Given the description of an element on the screen output the (x, y) to click on. 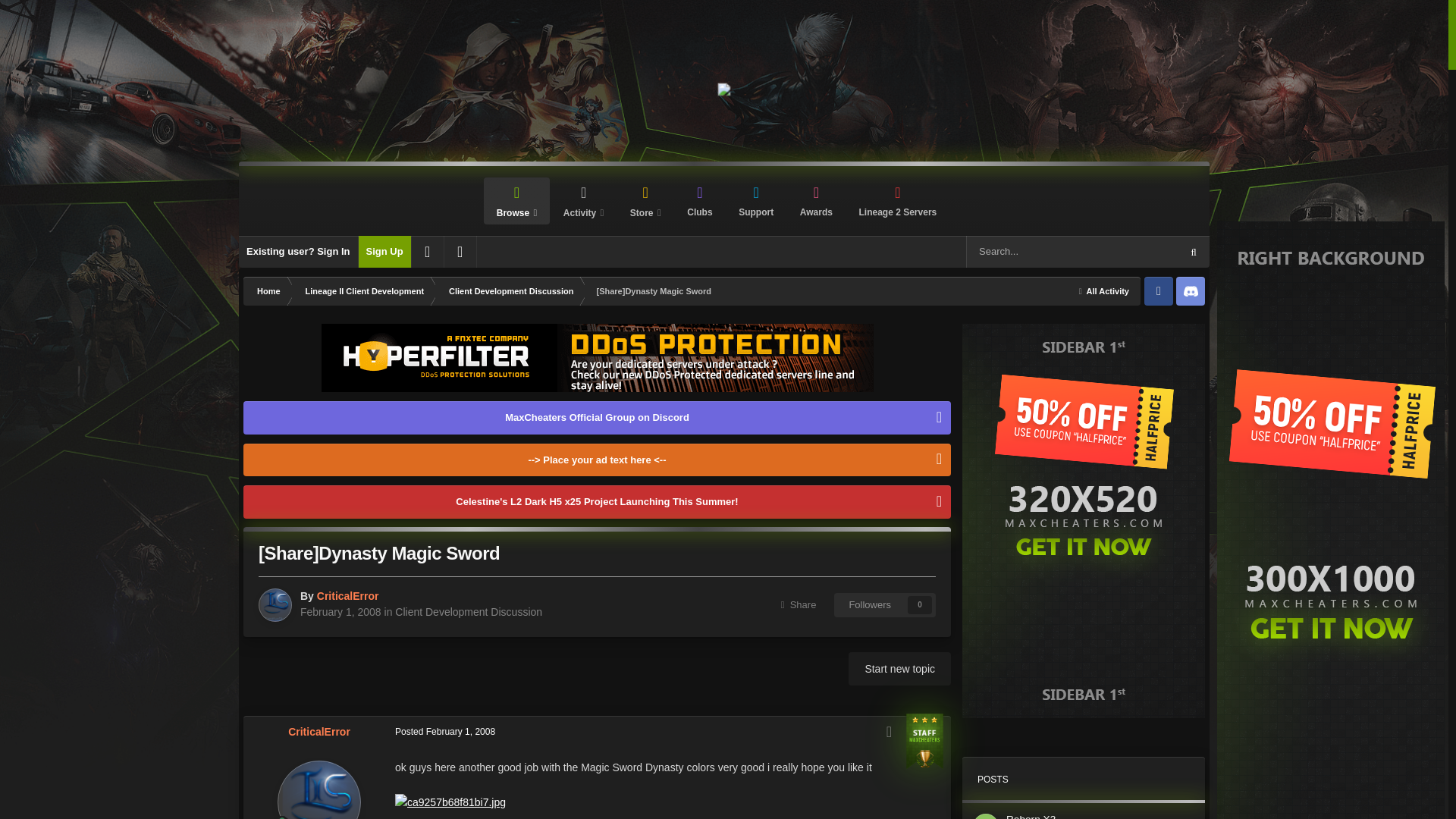
Awards (816, 200)
Lineage 2 Servers (897, 200)
Sign Up (384, 251)
Go to CriticalError's profile (275, 604)
Support (755, 200)
Home (267, 290)
Go to CriticalError's profile (319, 731)
Activity (582, 200)
Customizer (428, 251)
Store (644, 200)
Clubs (699, 200)
Light Mode (460, 251)
Start a new topic in this forum (899, 668)
Existing user? Sign In (298, 251)
Go to CriticalError's profile (347, 595)
